Given the description of an element on the screen output the (x, y) to click on. 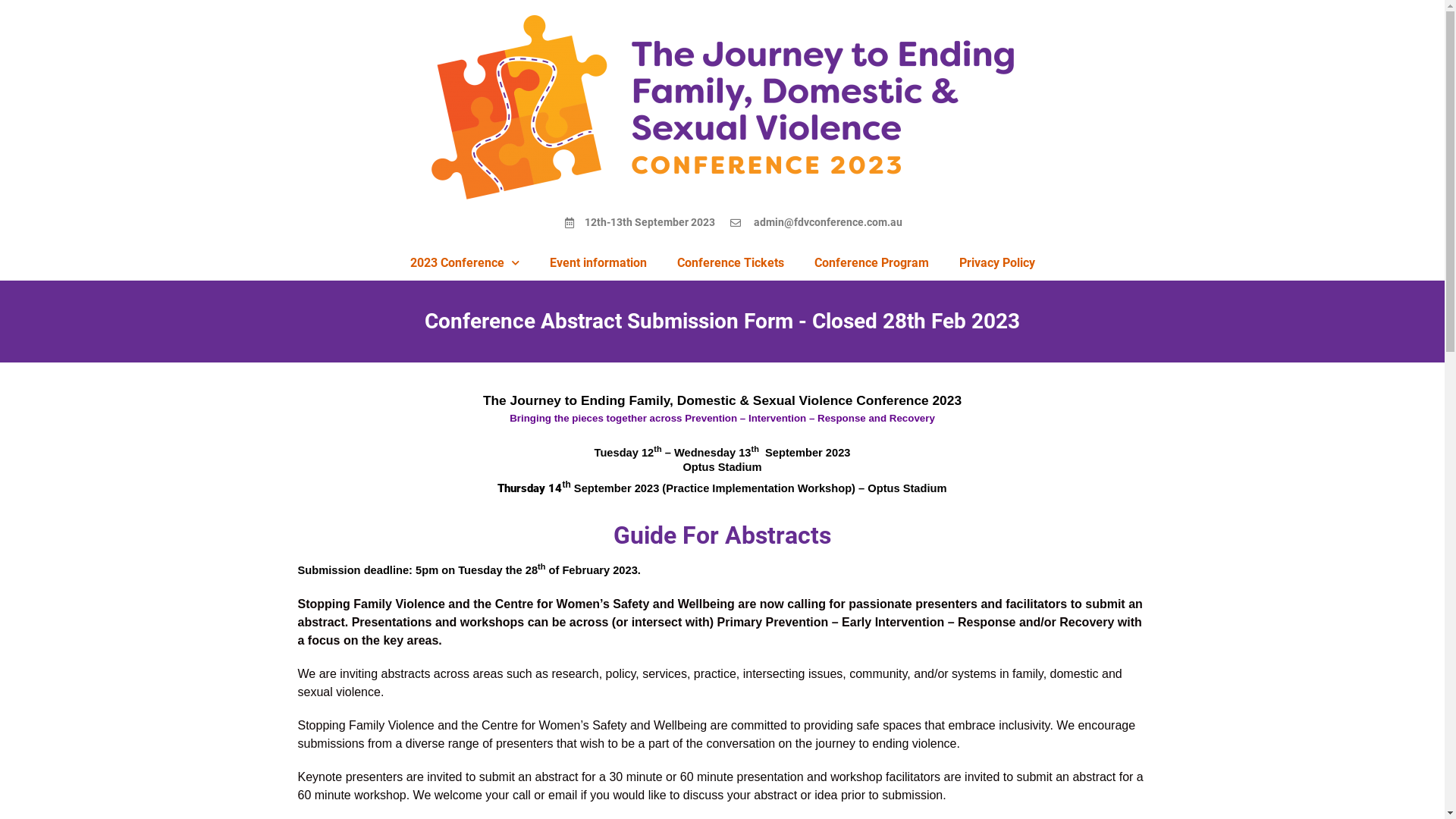
Conference Tickets Element type: text (729, 262)
Conference Program Element type: text (871, 262)
Event information Element type: text (597, 262)
2023 Conference Element type: text (463, 262)
Privacy Policy Element type: text (996, 262)
